Given the description of an element on the screen output the (x, y) to click on. 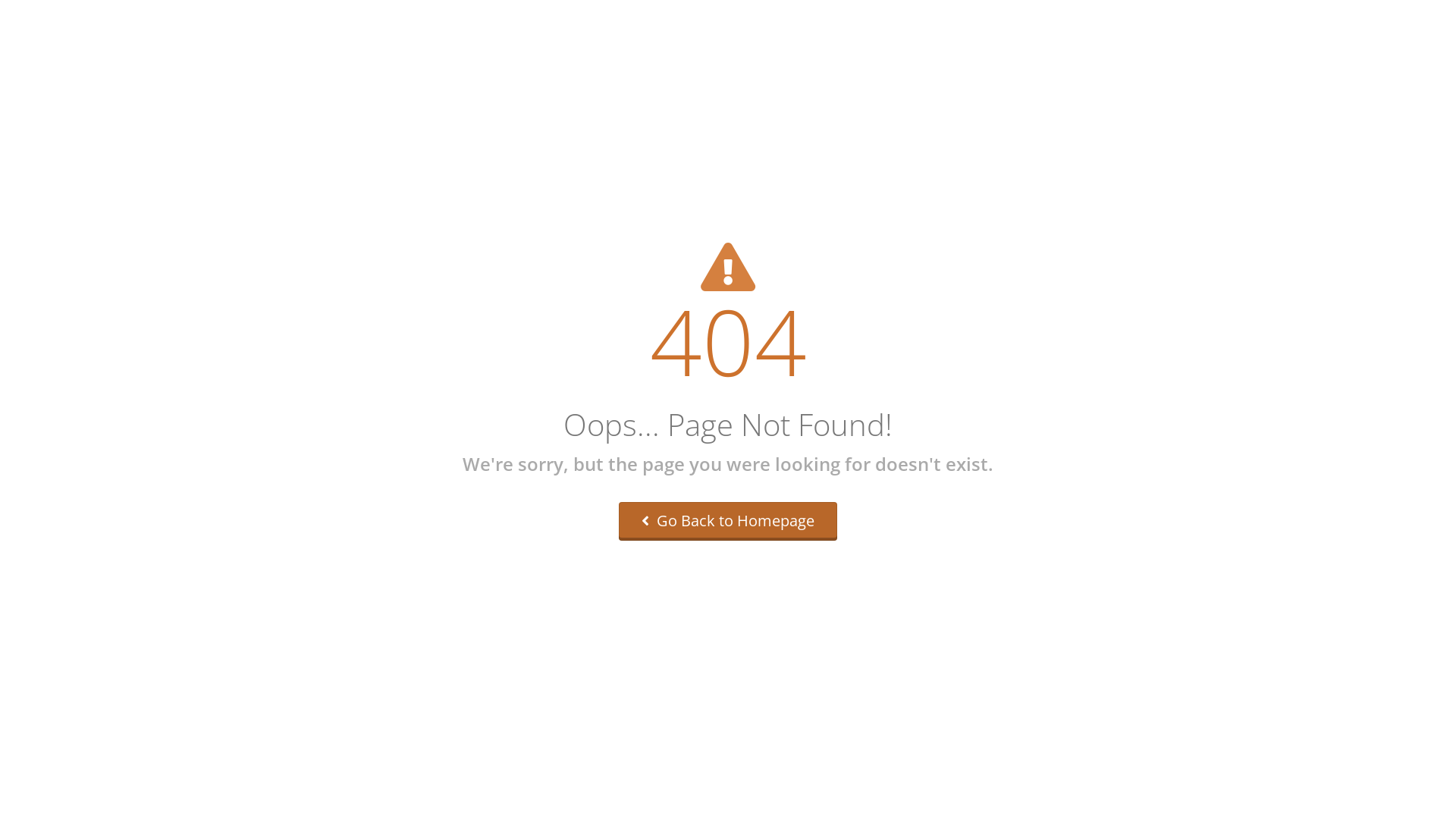
Go Back to Homepage Element type: text (727, 521)
